Given the description of an element on the screen output the (x, y) to click on. 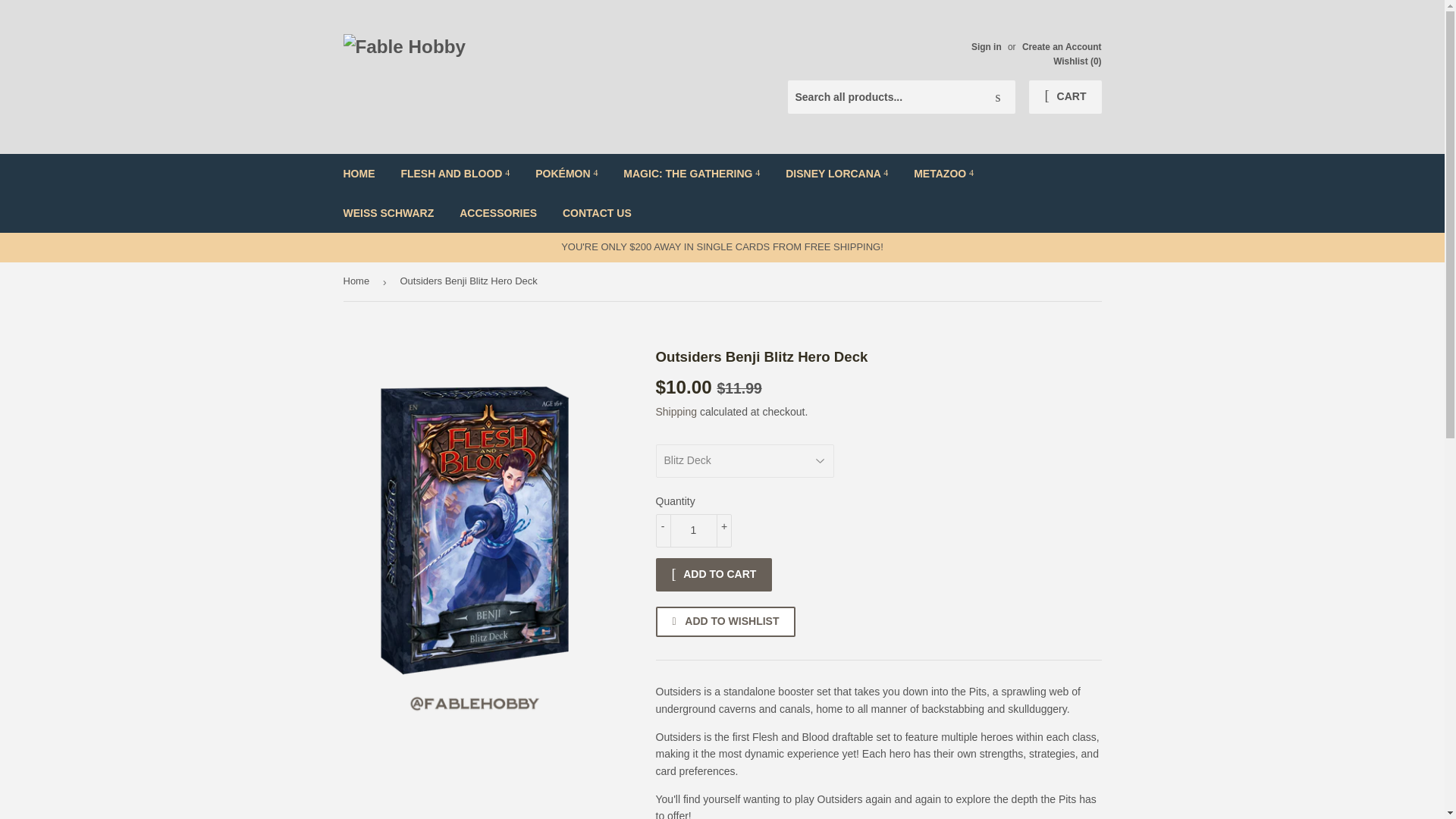
CART (1064, 96)
Sign in (986, 46)
Search (997, 97)
Create an Account (1062, 46)
1 (692, 530)
